Given the description of an element on the screen output the (x, y) to click on. 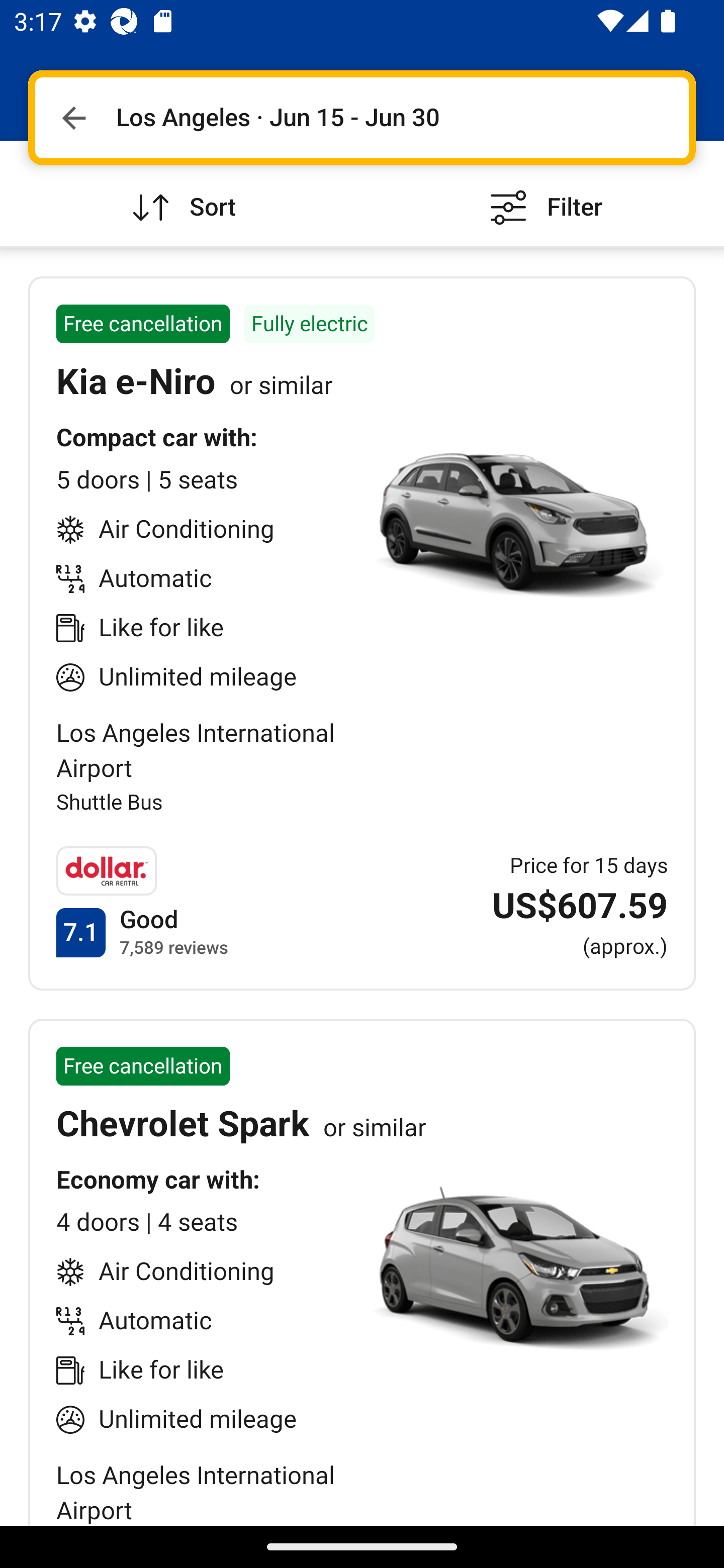
Back to previous screen (73, 117)
Sort (181, 193)
Filter (543, 193)
